Given the description of an element on the screen output the (x, y) to click on. 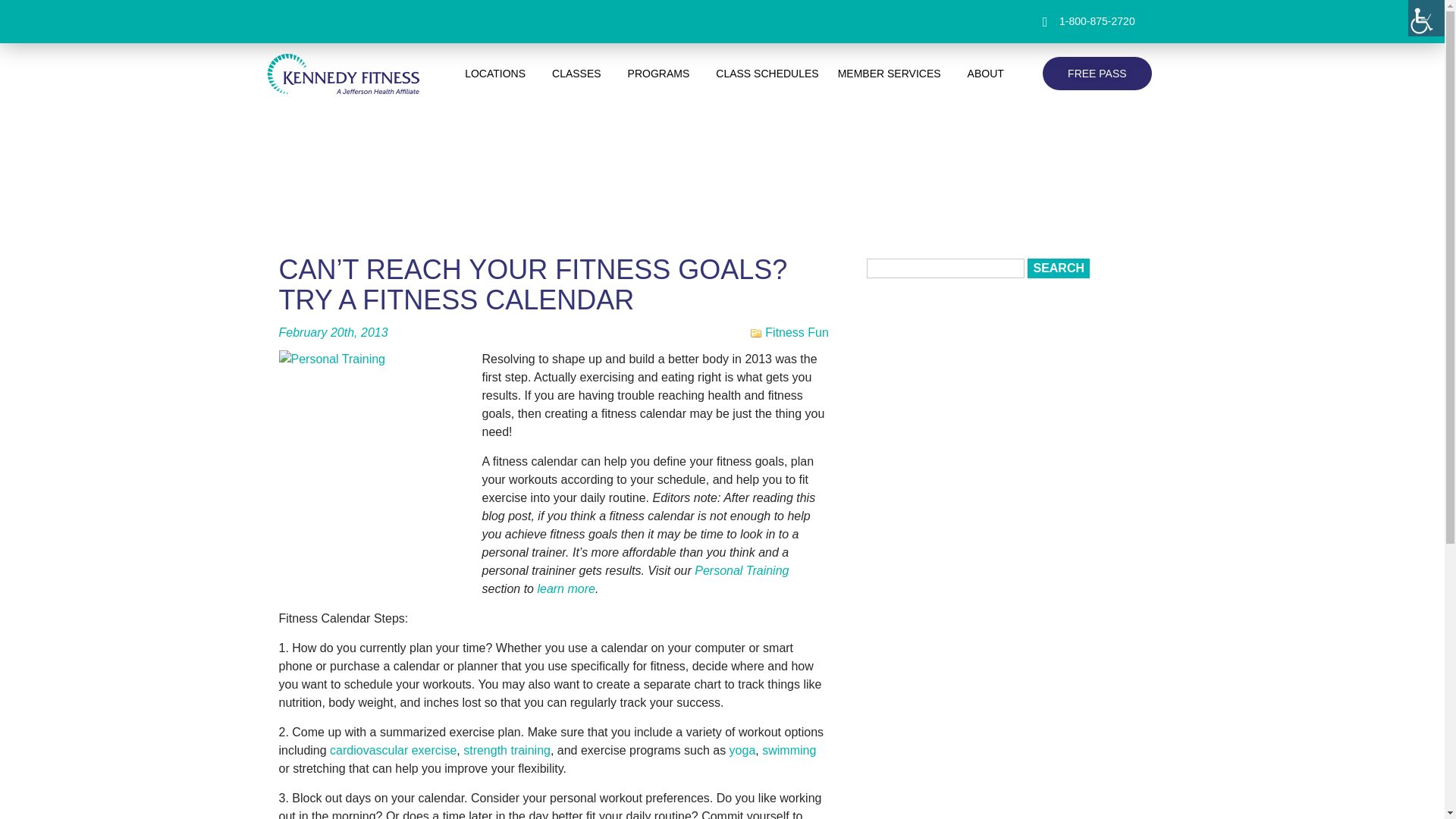
Search (1058, 268)
